Given the description of an element on the screen output the (x, y) to click on. 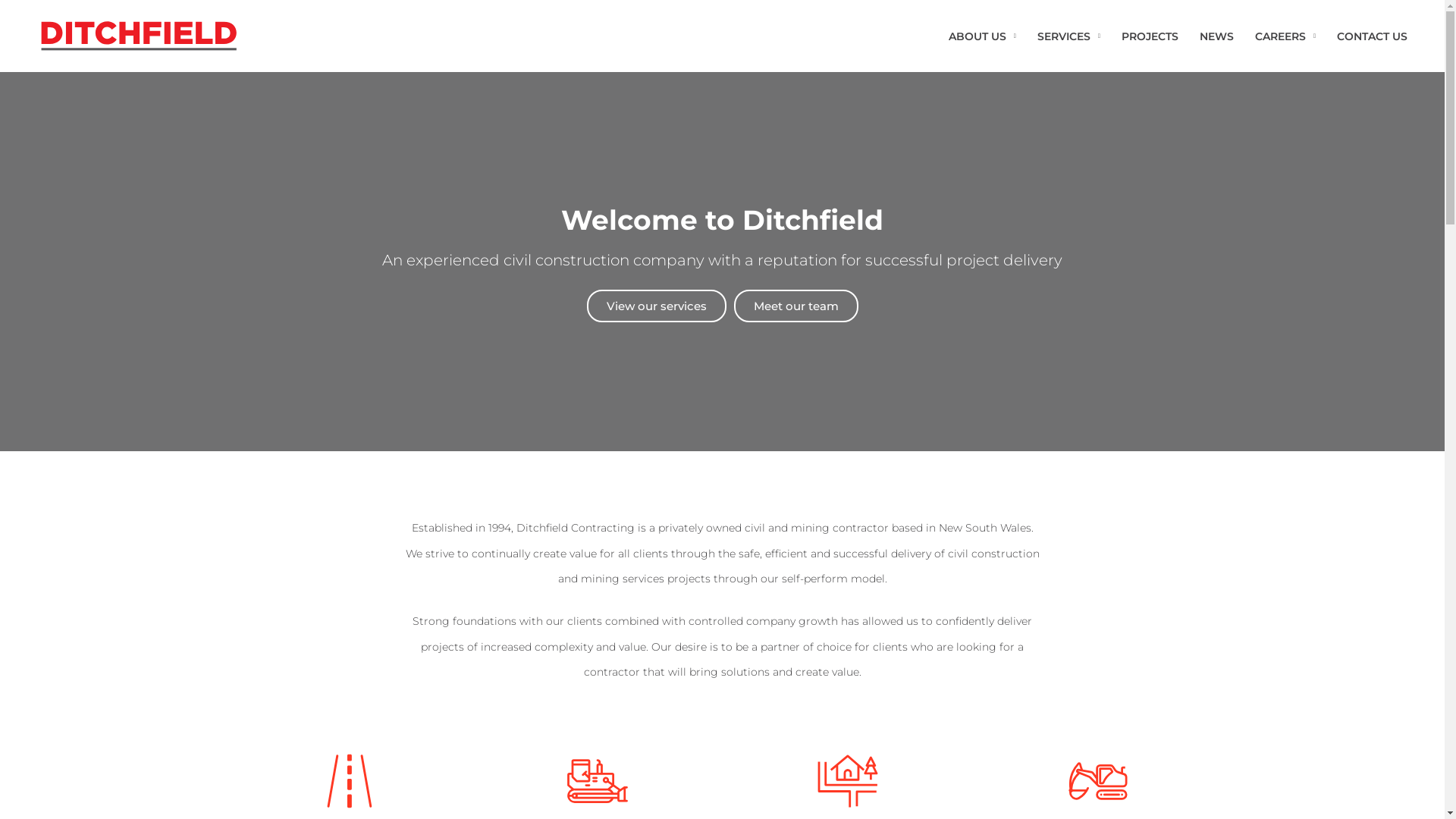
CONTACT US Element type: text (1372, 36)
CAREERS Element type: text (1285, 36)
SERVICES Element type: text (1068, 36)
NEWS Element type: text (1216, 36)
ABOUT US Element type: text (982, 36)
Meet our team Element type: text (796, 305)
PROJECTS Element type: text (1149, 36)
View our services Element type: text (656, 305)
